Given the description of an element on the screen output the (x, y) to click on. 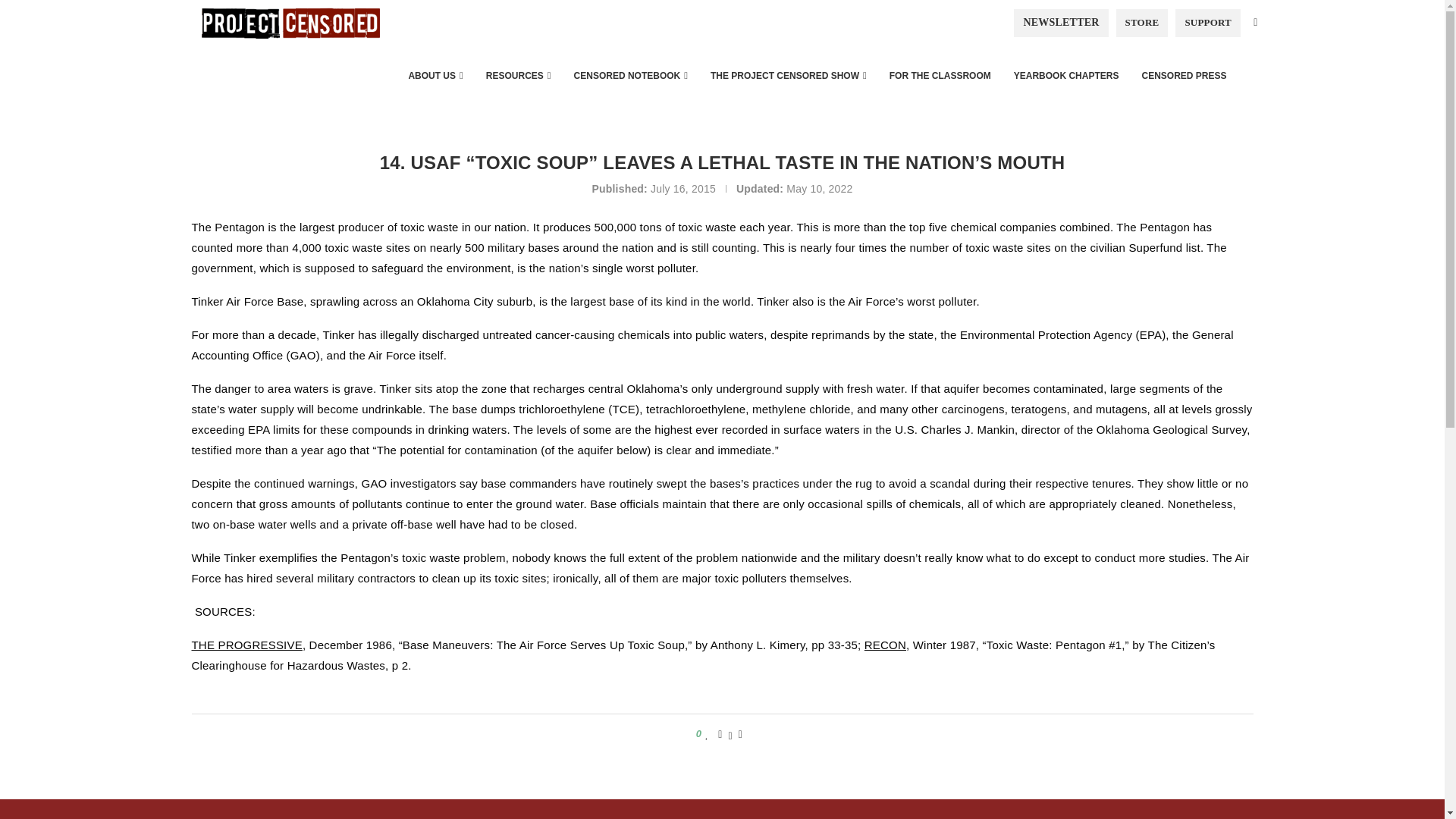
SUPPORT (1207, 22)
ABOUT US (435, 75)
NEWSLETTER (1060, 22)
STORE (1142, 22)
RESOURCES (518, 75)
